Given the description of an element on the screen output the (x, y) to click on. 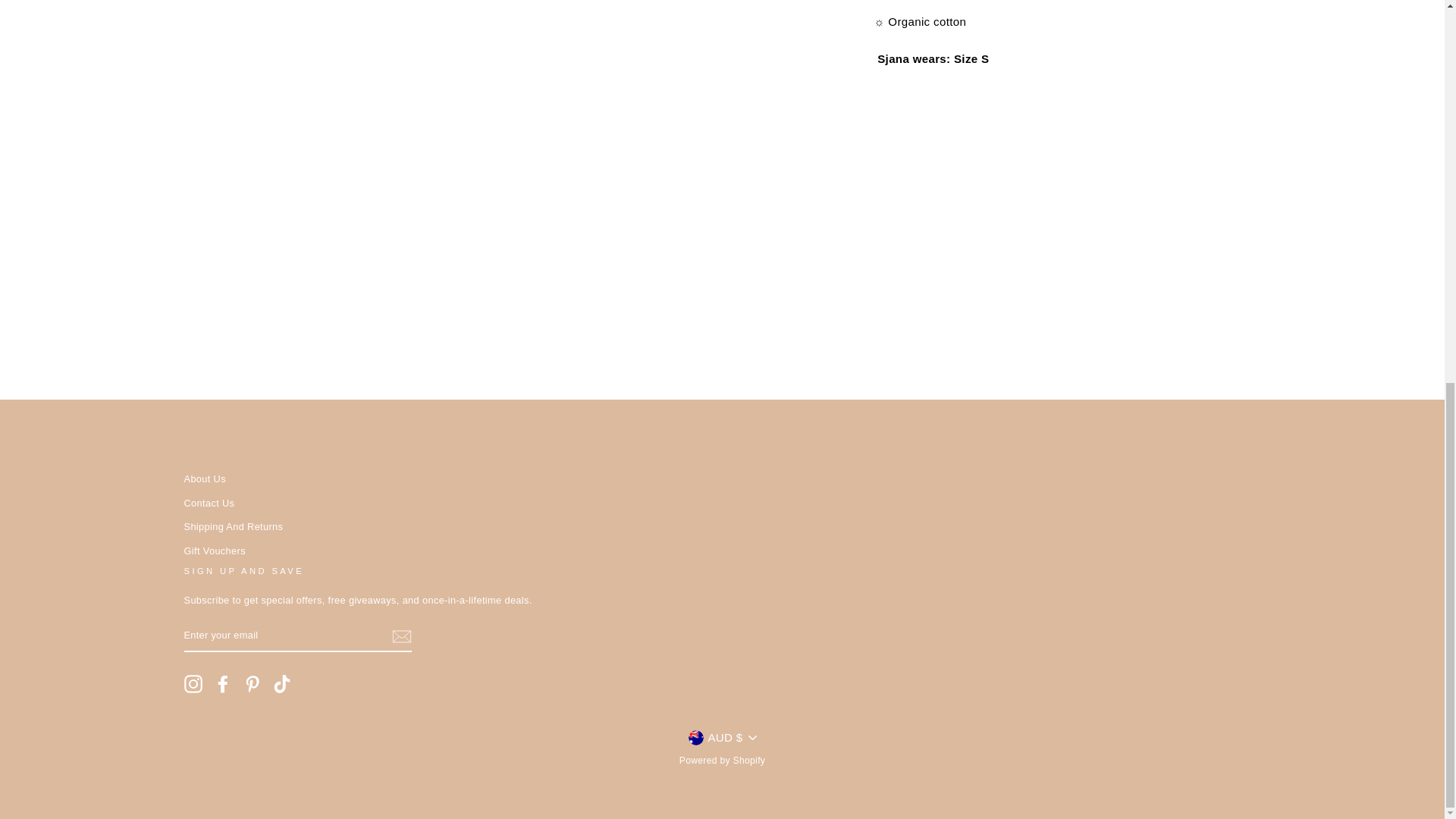
Shop Mude on TikTok (282, 683)
Shop Mude on Facebook (222, 683)
Shop Mude on Instagram (192, 683)
Shop Mude on Pinterest (251, 683)
